Given the description of an element on the screen output the (x, y) to click on. 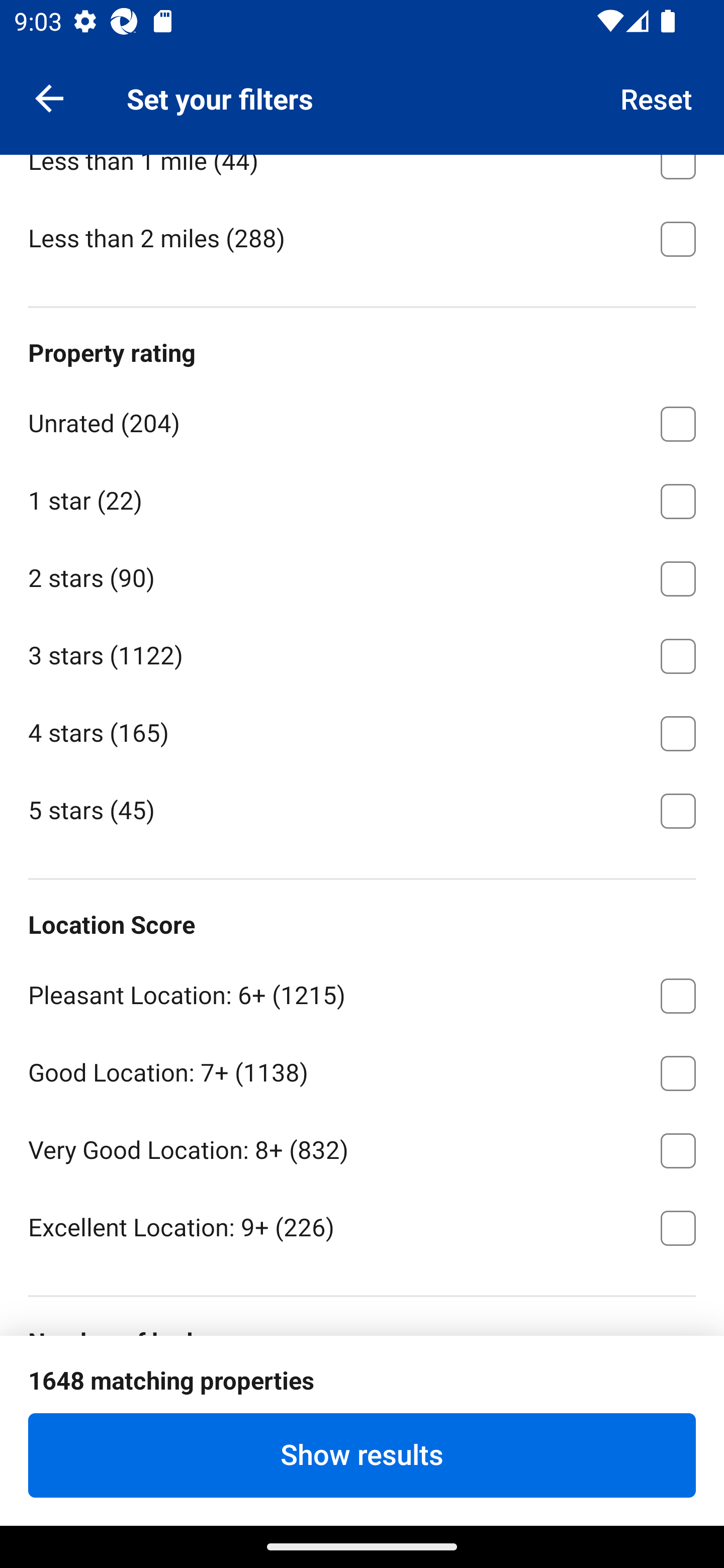
Less than 1/2 mile ⁦(4) (361, 80)
Navigate up (49, 97)
Reset (656, 97)
Less than 1 mile ⁦(44) (361, 176)
Less than 2 miles ⁦(288) (361, 237)
Unrated ⁦(204) (361, 420)
1 star ⁦(22) (361, 497)
2 stars ⁦(90) (361, 575)
3 stars ⁦(1122) (361, 652)
4 stars ⁦(165) (361, 729)
5 stars ⁦(45) (361, 808)
Pleasant Location: 6+ ⁦(1215) (361, 992)
Good Location: 7+ ⁦(1138) (361, 1069)
Very Good Location: 8+ ⁦(832) (361, 1146)
Excellent Location: 9+ ⁦(226) (361, 1225)
Show results (361, 1454)
